Given the description of an element on the screen output the (x, y) to click on. 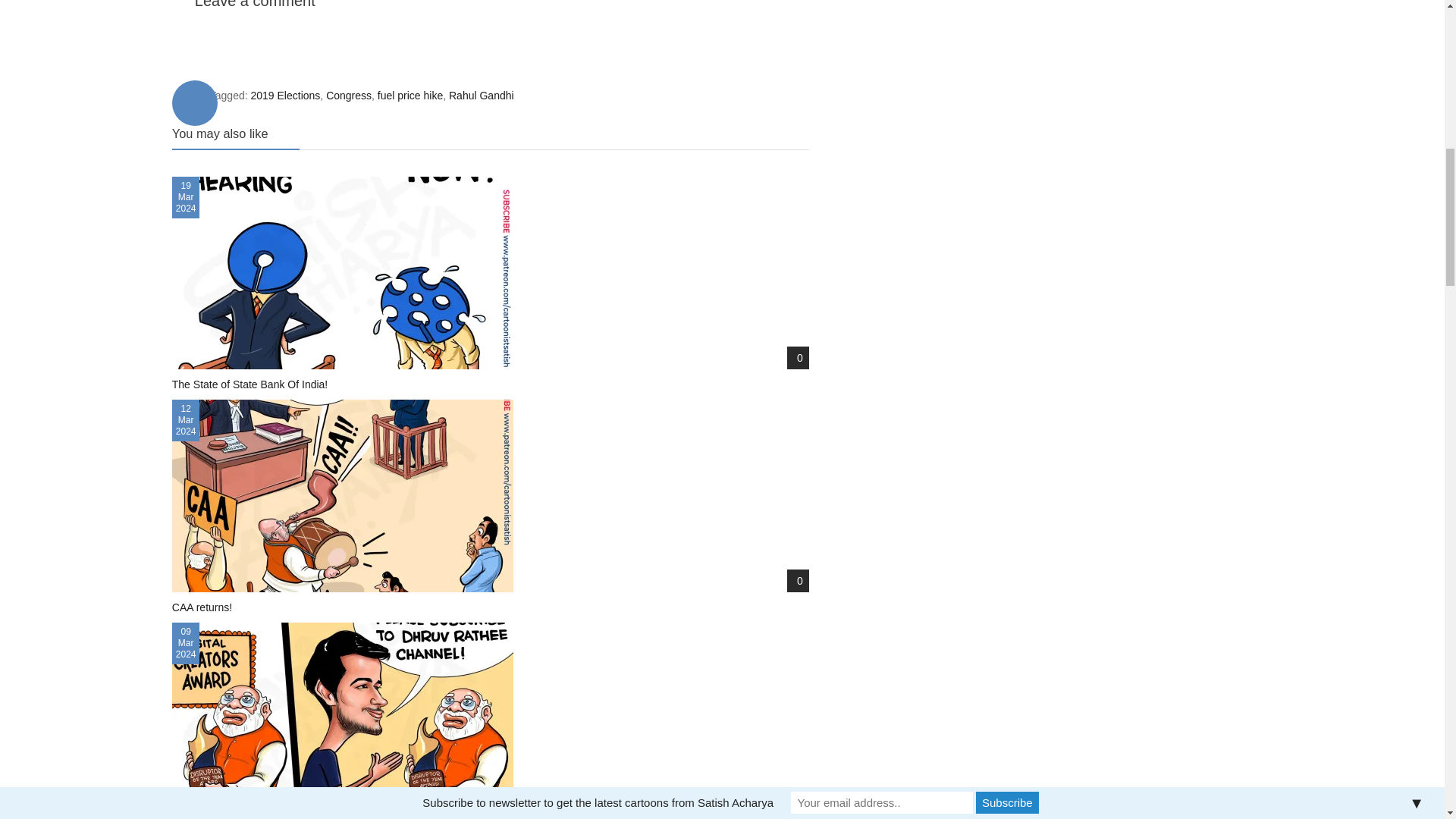
0 (798, 357)
fuel price hike (409, 95)
Rahul Gandhi (480, 95)
2019 Elections (285, 95)
Congress (348, 95)
